Given the description of an element on the screen output the (x, y) to click on. 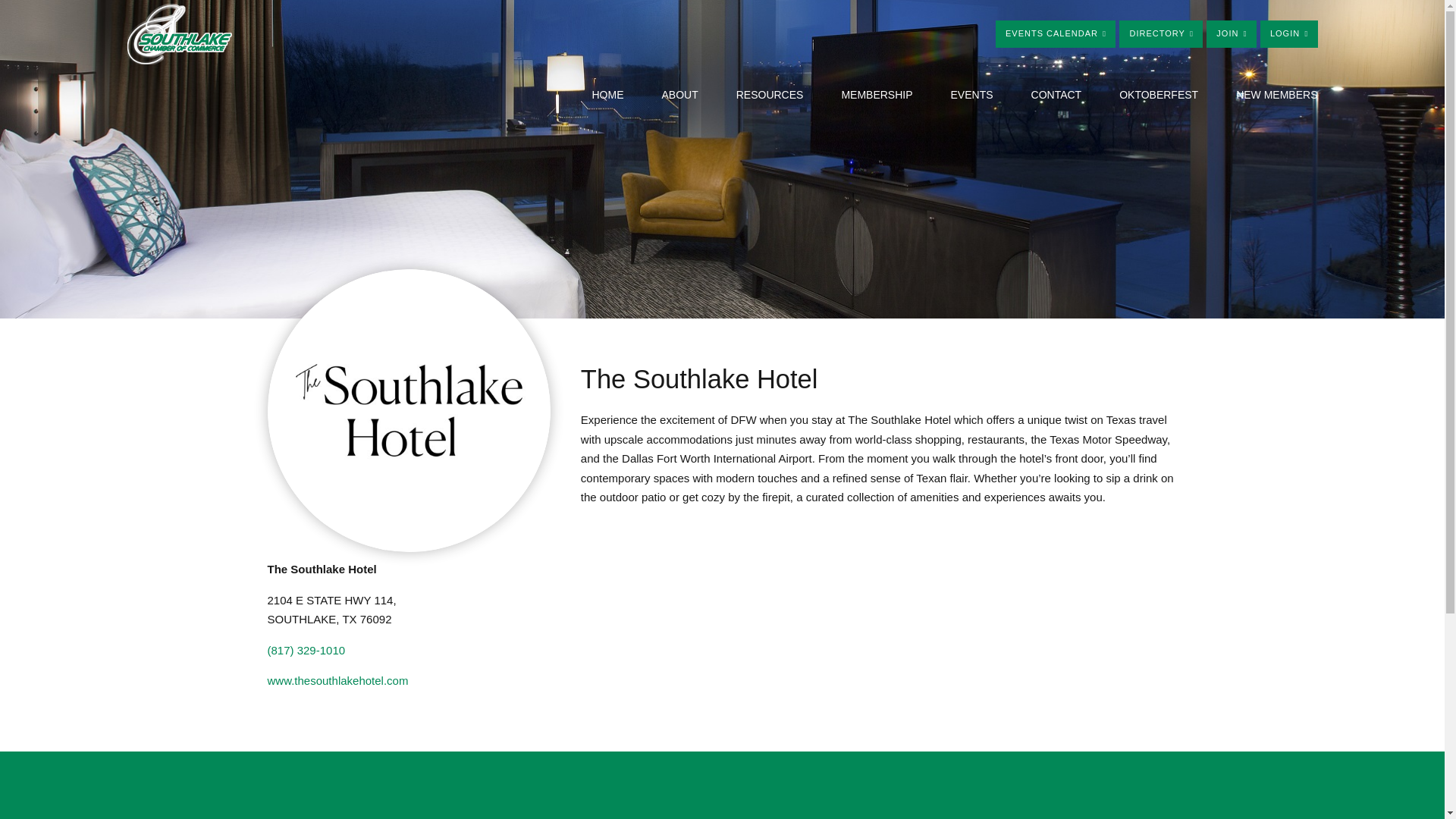
JOIN (1231, 33)
LOGIN (1288, 33)
MEMBERSHIP (876, 94)
OKTOBERFEST (1158, 94)
NEW MEMBERS (1276, 94)
DIRECTORY (1160, 33)
RESOURCES (769, 94)
EVENTS CALENDAR (1055, 33)
the-southlake-hotel-logo (408, 410)
